Given the description of an element on the screen output the (x, y) to click on. 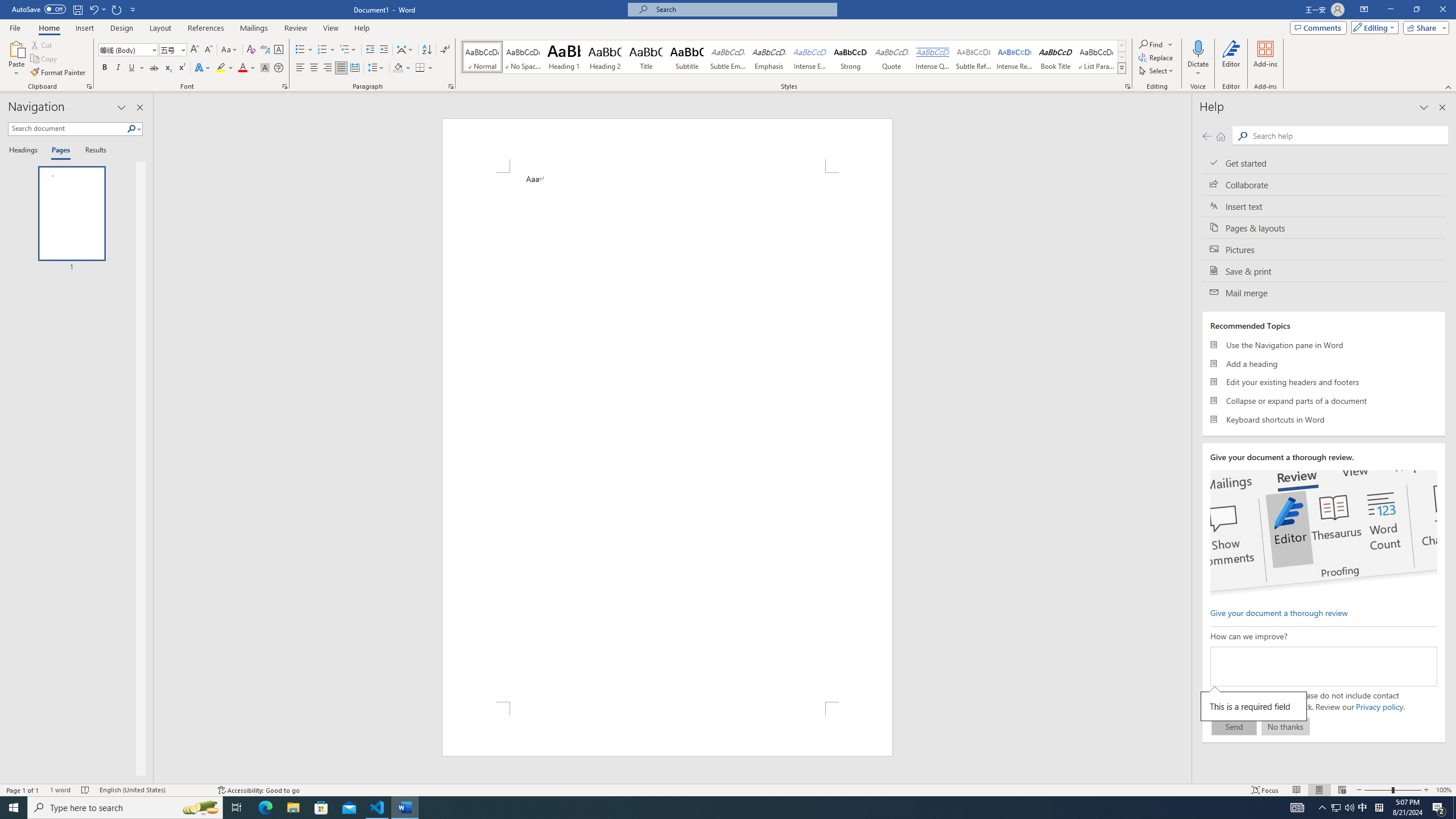
Page Number Page 1 of 1 (22, 790)
Intense Quote (932, 56)
Collaborate (1323, 184)
Spelling and Grammar Check No Errors (85, 790)
